Given the description of an element on the screen output the (x, y) to click on. 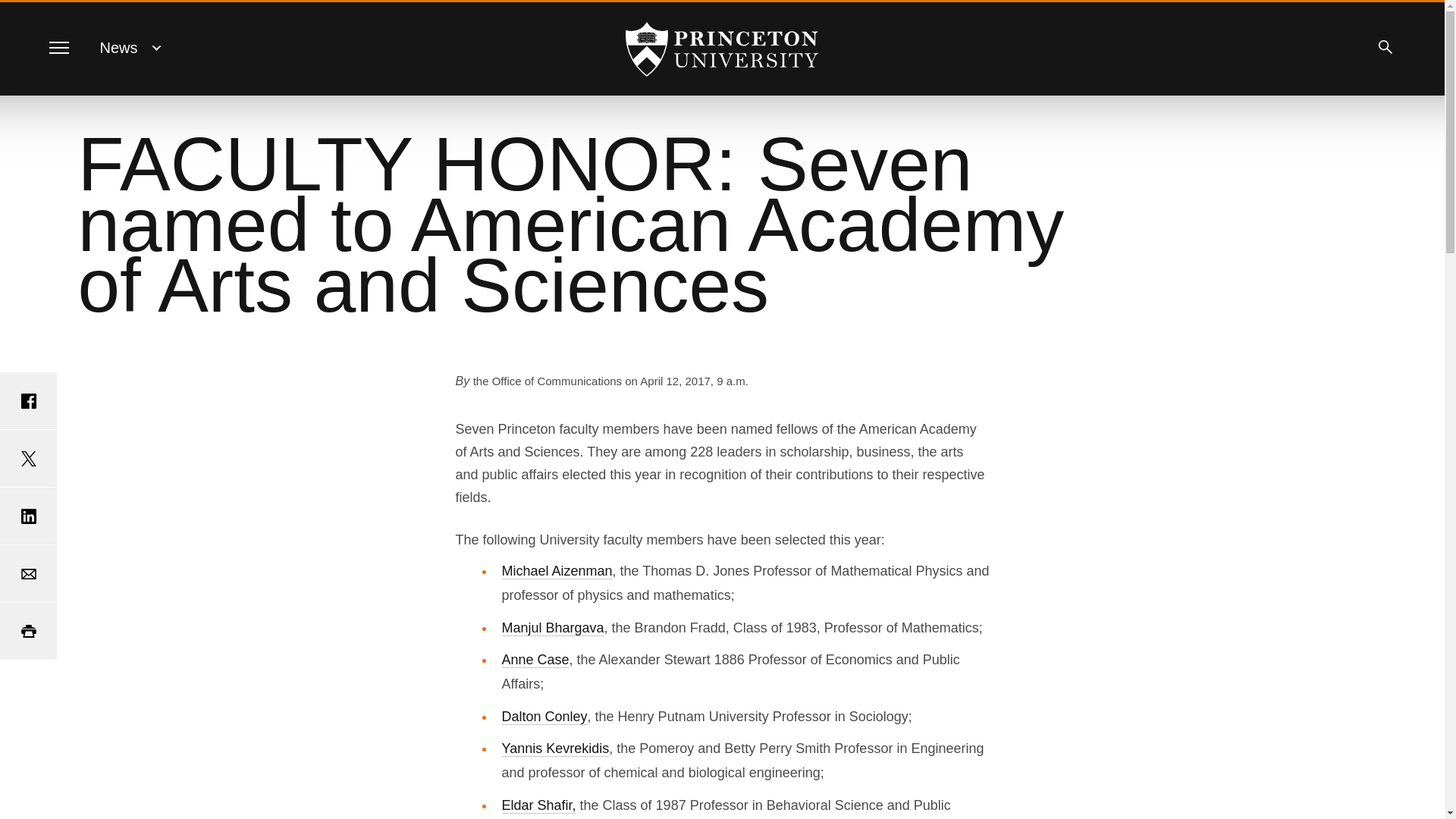
Manjul Bhargava (553, 627)
Princeton University (722, 49)
Share on Facebook (28, 400)
Home (722, 49)
Share on LinkedIn (28, 515)
News (119, 47)
Dalton Conley (545, 715)
Menu (57, 47)
Email (28, 573)
SKIP TO MAIN CONTENT (22, 13)
